Given the description of an element on the screen output the (x, y) to click on. 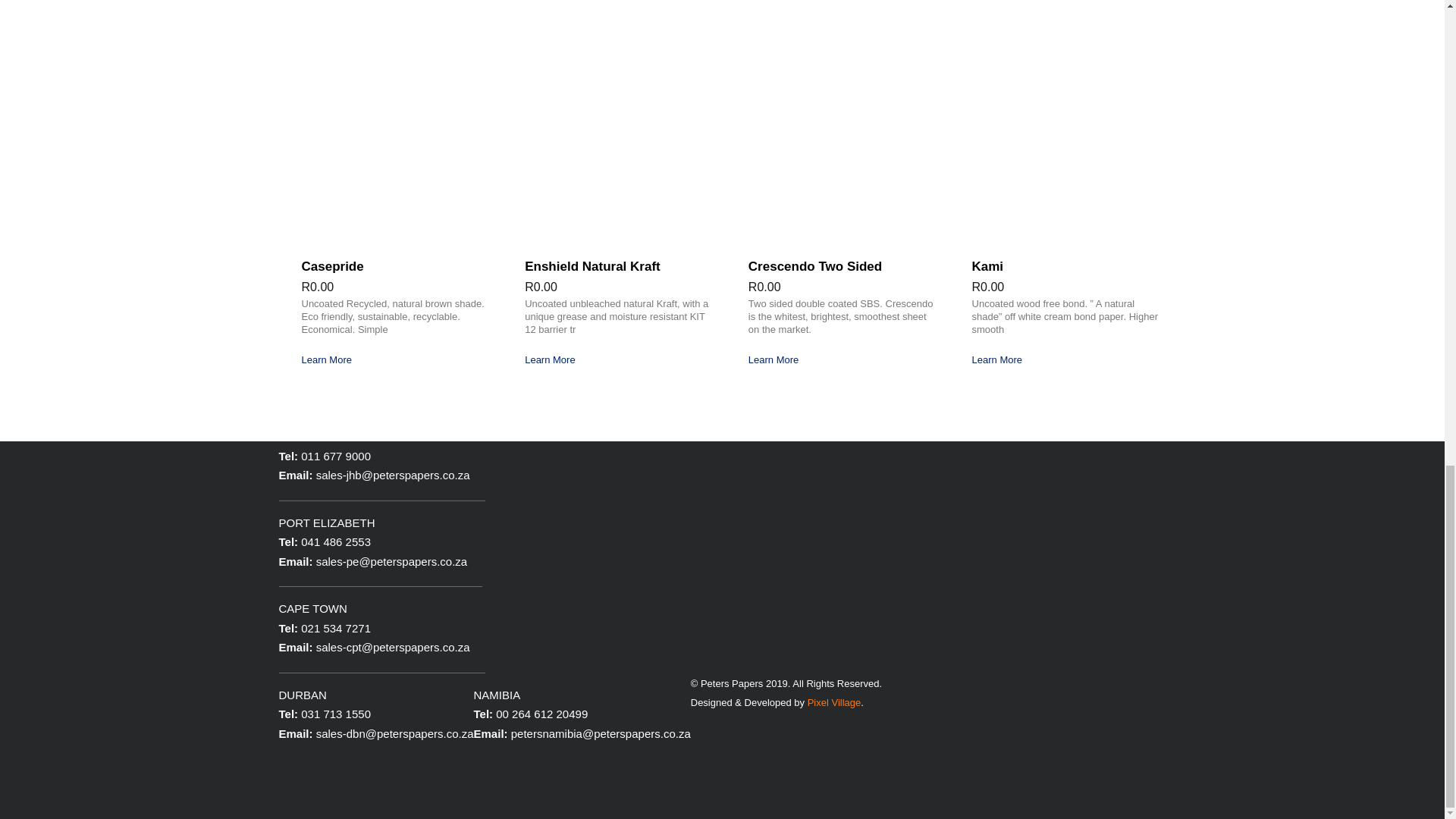
Learn More (326, 359)
Enshield Natural Kraft (592, 266)
Learn More (549, 359)
Casepride (332, 266)
